Given the description of an element on the screen output the (x, y) to click on. 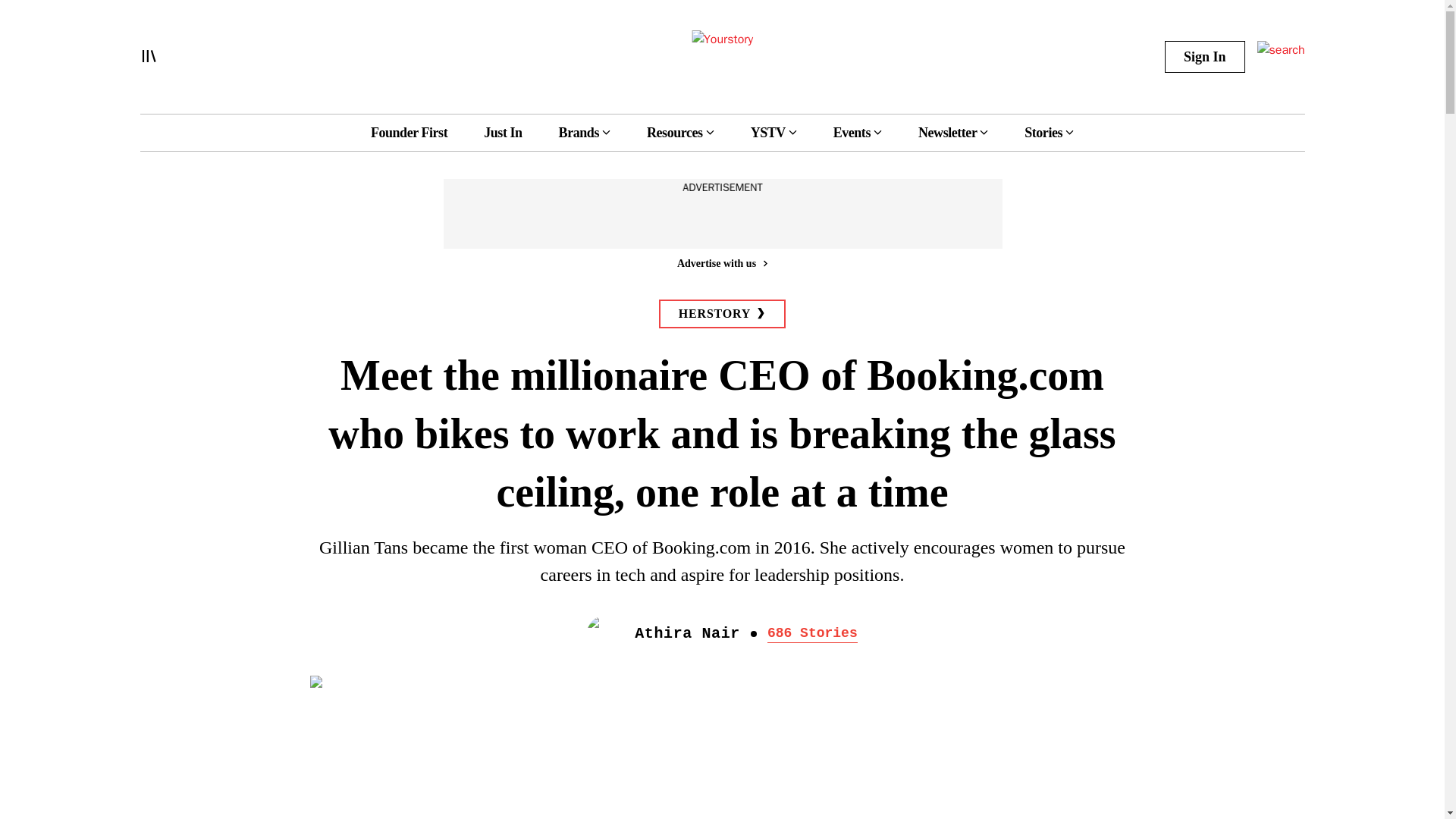
HERSTORY (722, 313)
686 Stories (812, 633)
Advertise with us (721, 263)
Athira Nair (686, 633)
Just In (502, 132)
Founder First (408, 132)
